Given the description of an element on the screen output the (x, y) to click on. 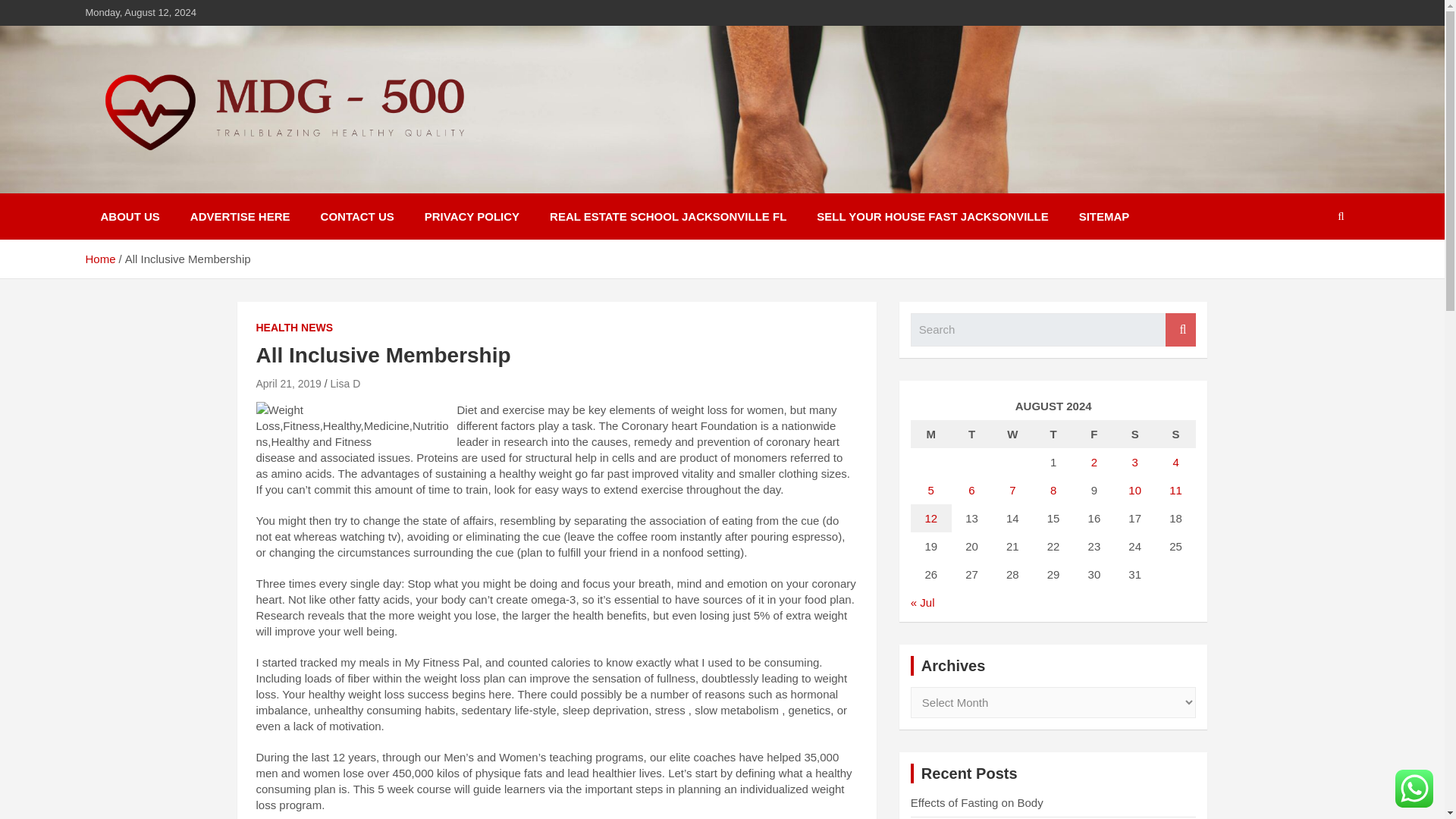
10 (1134, 490)
Thursday (1053, 433)
HEALTH NEWS (294, 328)
REAL ESTATE SCHOOL JACKSONVILLE FL (668, 216)
Home (99, 258)
All Inclusive Membership (288, 383)
Monday (931, 433)
SITEMAP (1104, 216)
PRIVACY POLICY (471, 216)
Lisa D (345, 383)
